Given the description of an element on the screen output the (x, y) to click on. 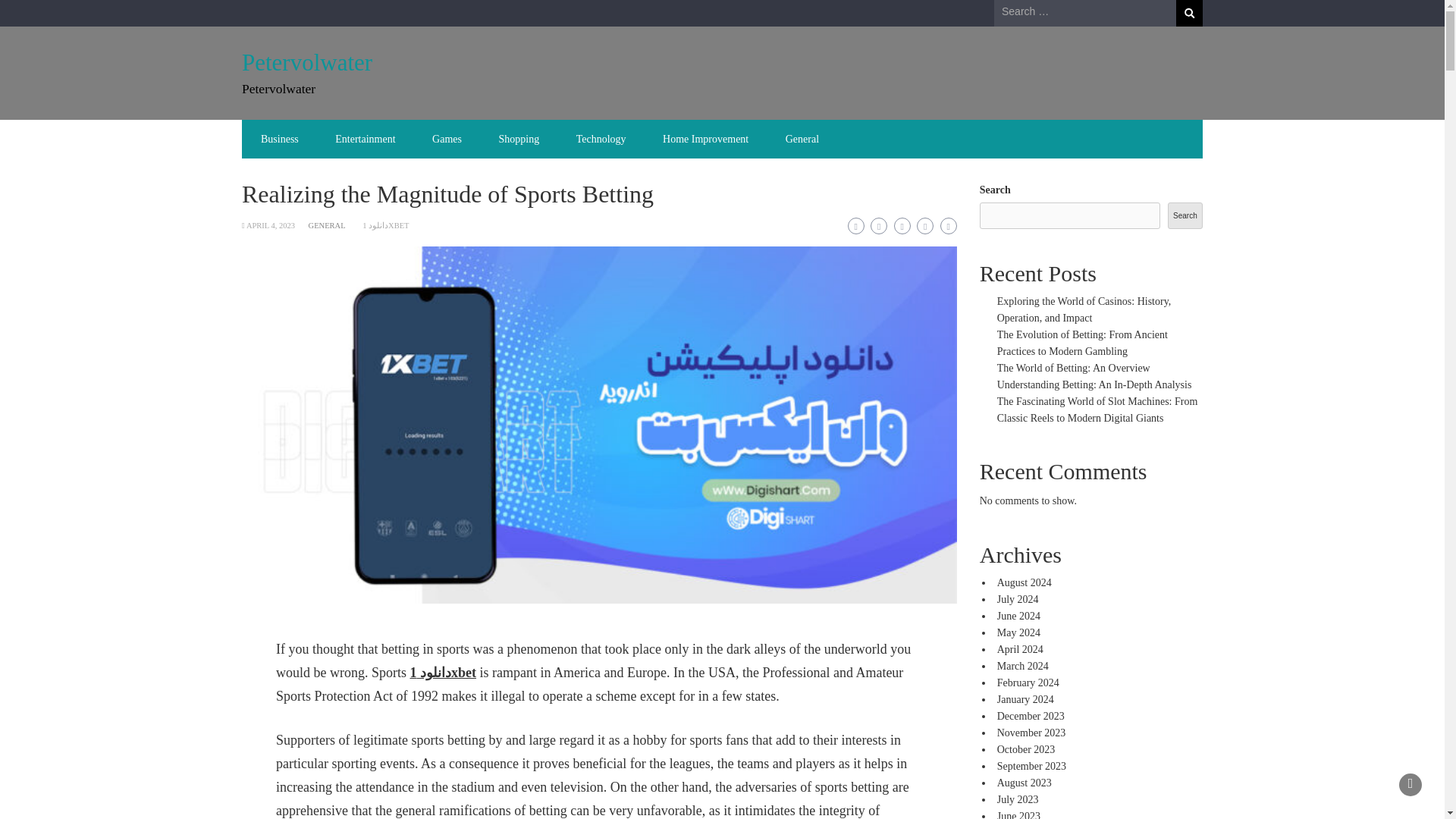
Petervolwater (306, 62)
Search (1189, 13)
Technology (601, 138)
The World of Betting: An Overview (1073, 367)
APRIL 4, 2023 (270, 225)
Shopping (518, 138)
July 2024 (1018, 599)
May 2024 (1019, 632)
General (802, 138)
Search for: (1085, 11)
